Given the description of an element on the screen output the (x, y) to click on. 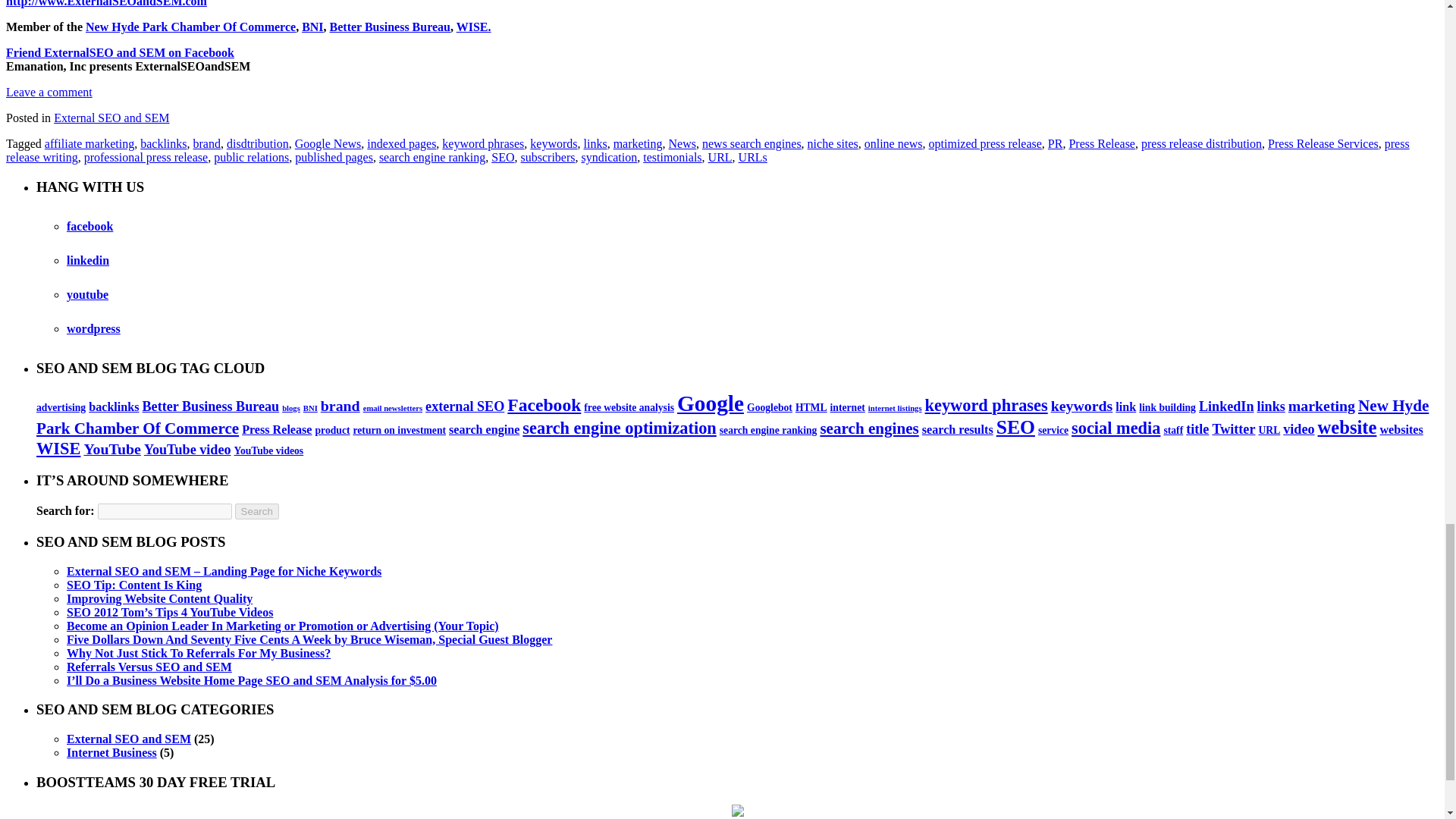
Facebook (89, 226)
YouTube (86, 294)
WordPress (93, 328)
Search (256, 511)
Linkedin (87, 259)
